Given the description of an element on the screen output the (x, y) to click on. 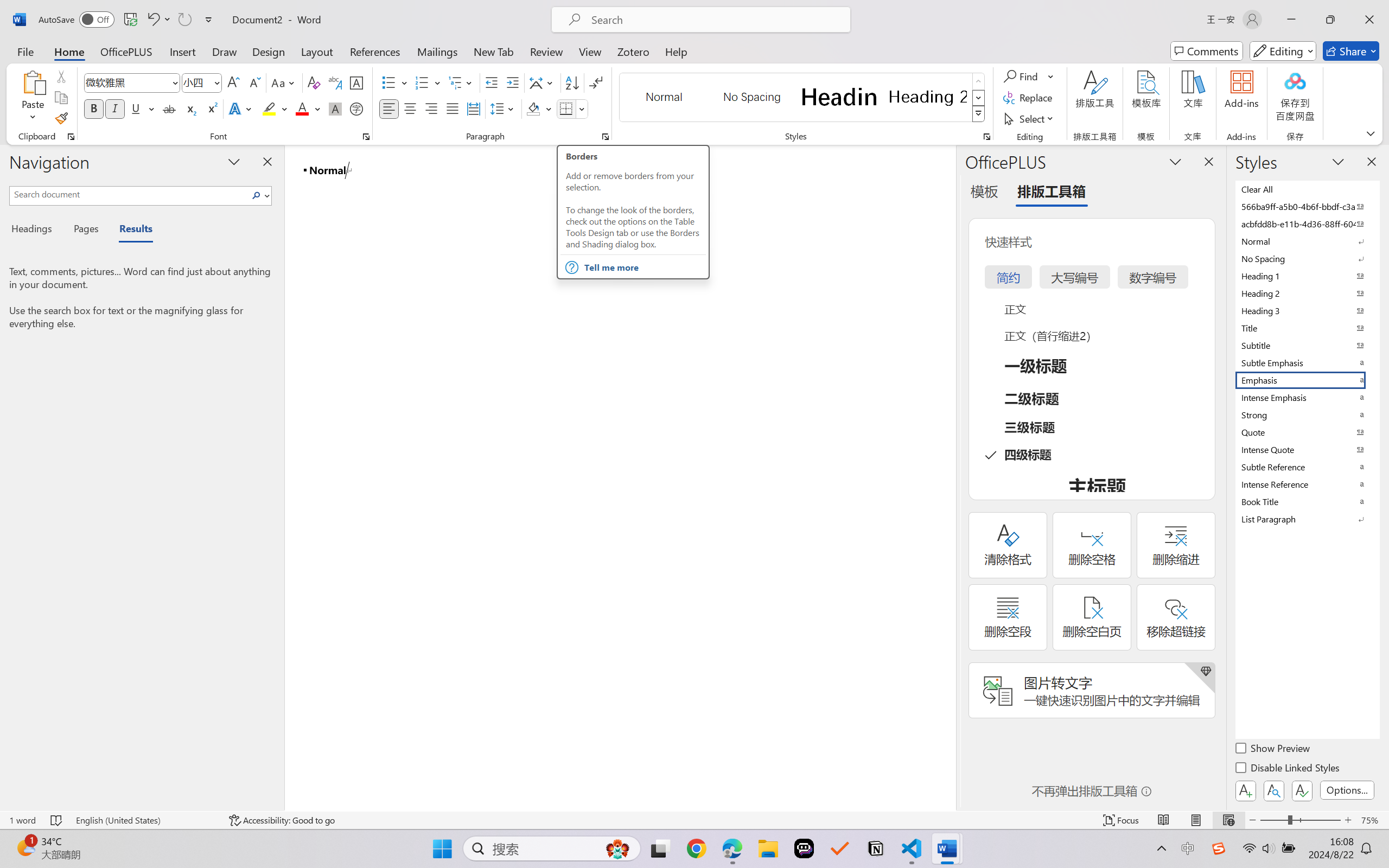
Grow Font (233, 82)
Font Color Red (302, 108)
Sort... (571, 82)
Numbering (428, 82)
Bullets (388, 82)
Character Shading (334, 108)
Undo Style (158, 19)
AutomationID: DynamicSearchBoxGleamImage (617, 848)
Disable Linked Styles (1287, 769)
Quote (1306, 431)
Font... (365, 136)
Shading (539, 108)
Mode (1283, 50)
Share (1350, 51)
